Given the description of an element on the screen output the (x, y) to click on. 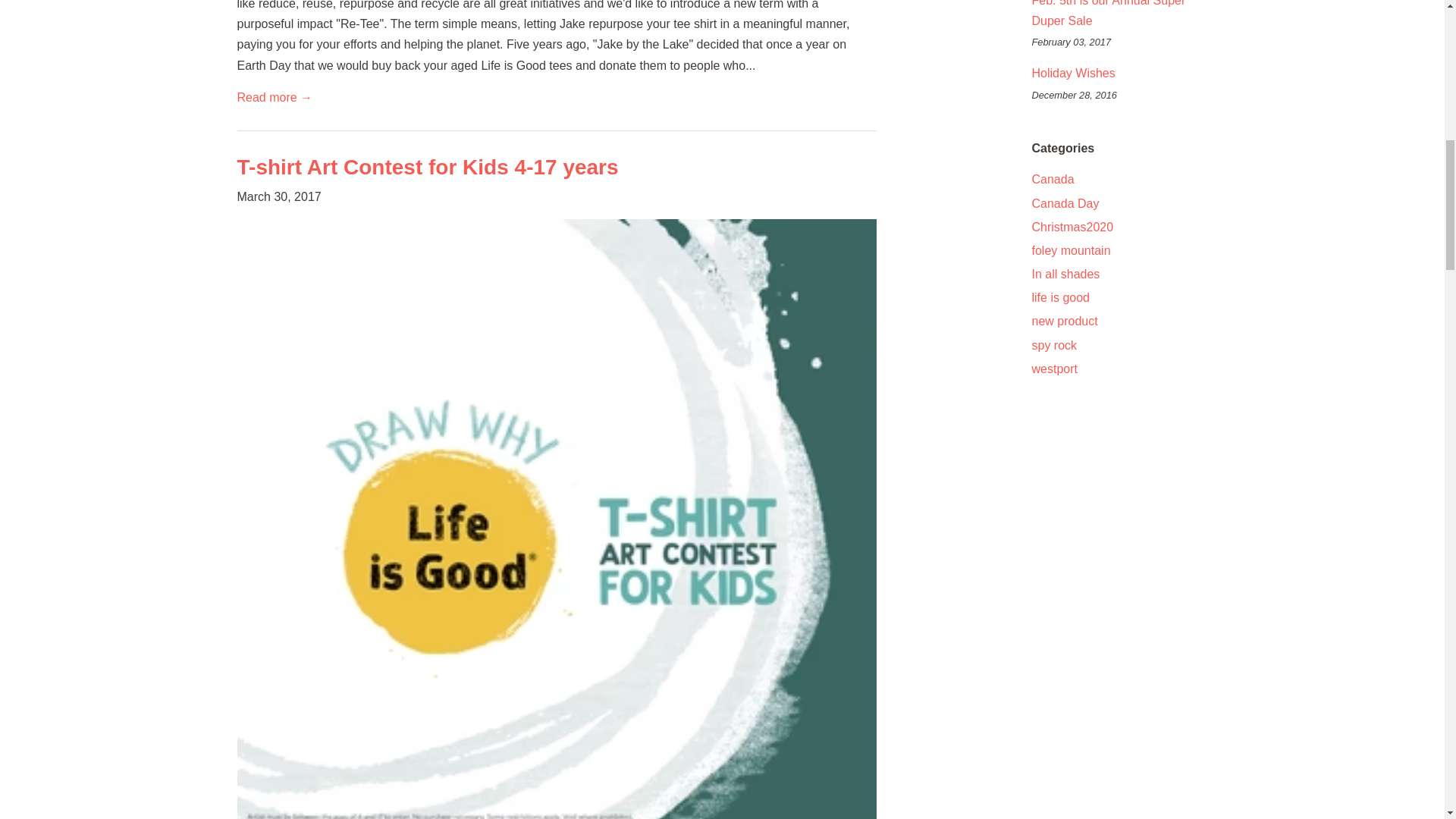
Show articles tagged Christmas2020 (1071, 226)
Show articles tagged In all shades (1064, 273)
Show articles tagged Canada Day (1064, 203)
Show articles tagged life is good (1059, 297)
Show articles tagged new product (1063, 320)
Show articles tagged spy rock (1053, 345)
Show articles tagged foley mountain (1069, 250)
Show articles tagged Canada (1052, 178)
Show articles tagged westport (1053, 368)
